Given the description of an element on the screen output the (x, y) to click on. 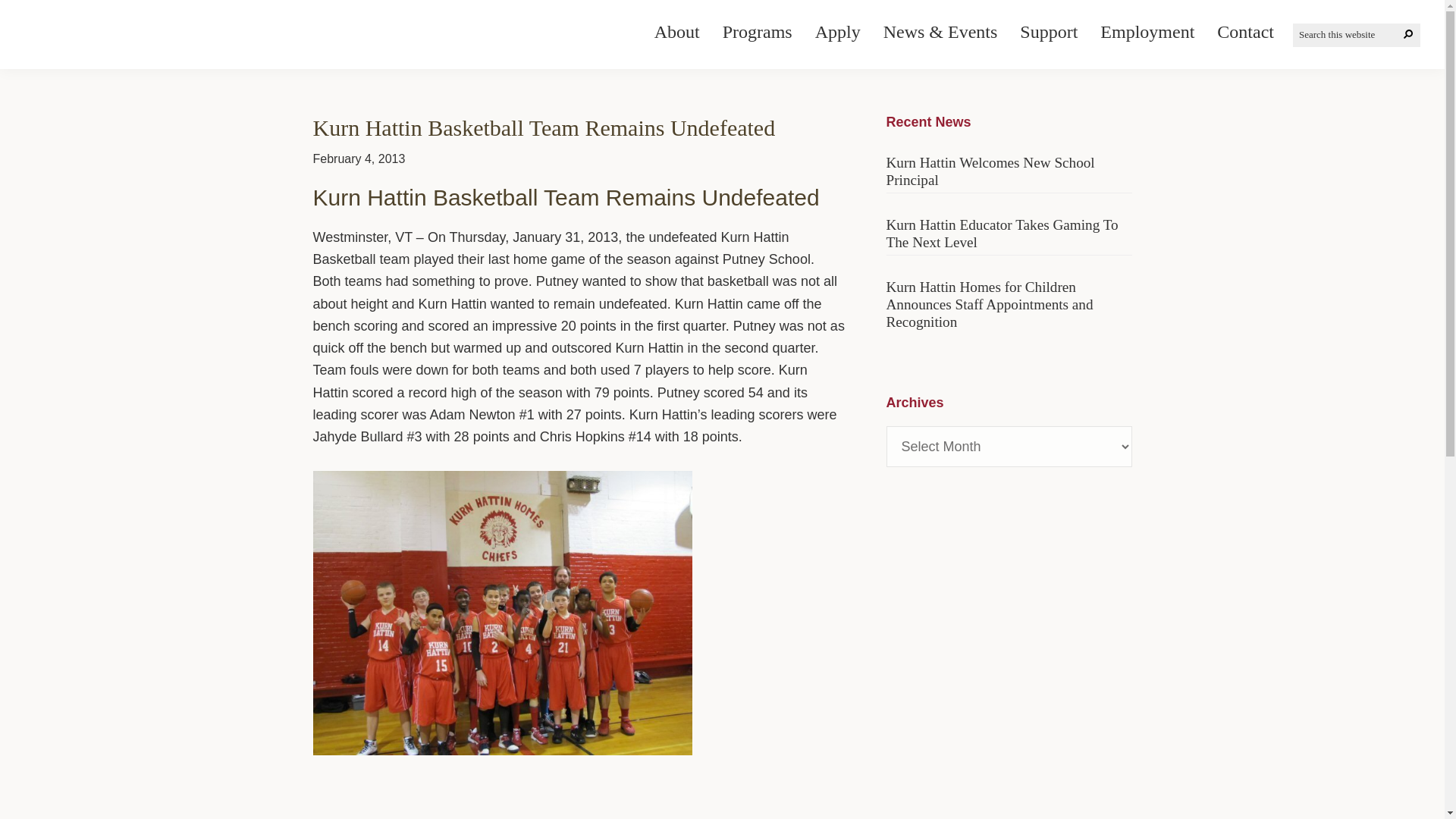
Programs (757, 32)
Apply (837, 32)
About (677, 32)
